Given the description of an element on the screen output the (x, y) to click on. 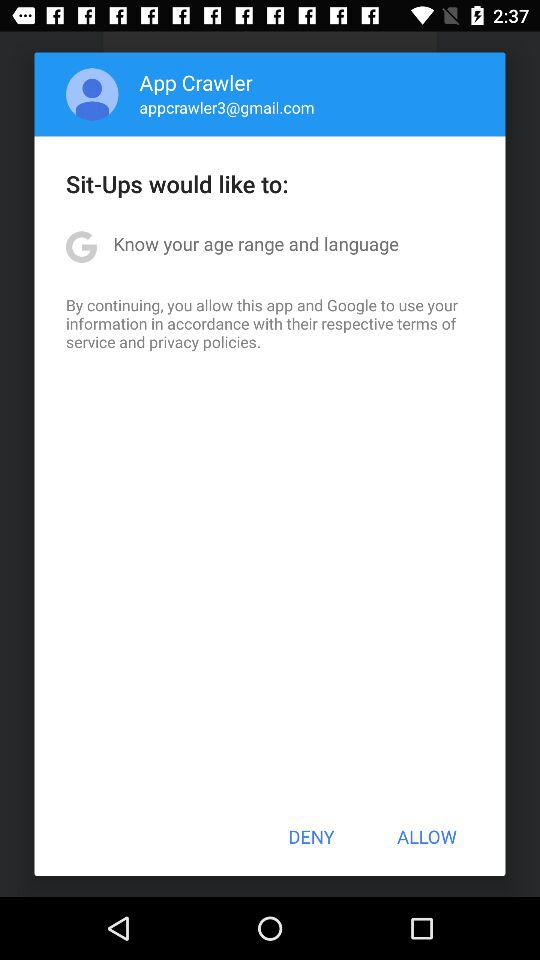
select the app to the left of app crawler icon (92, 94)
